Given the description of an element on the screen output the (x, y) to click on. 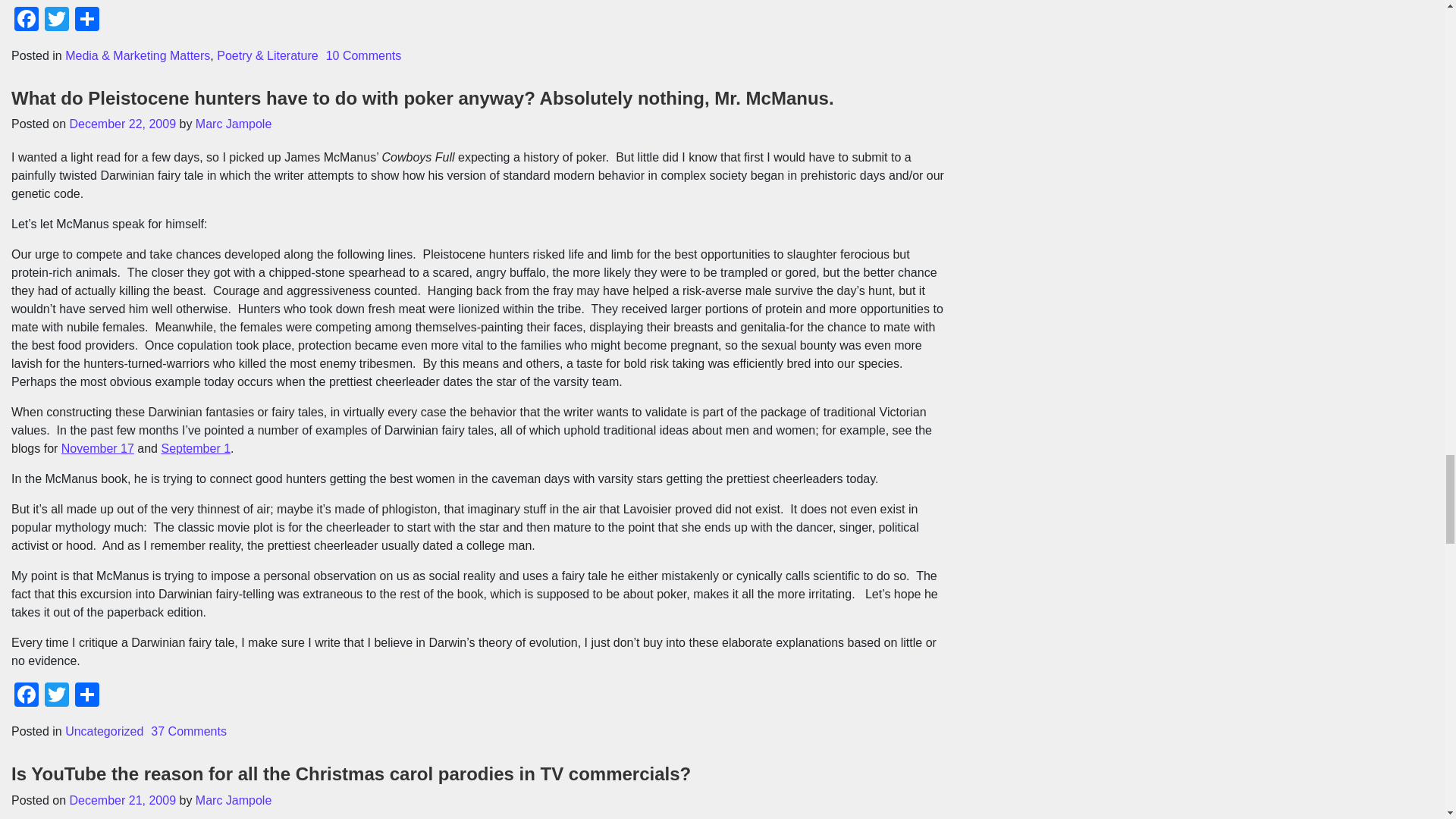
Twitter (56, 20)
Facebook (26, 20)
Facebook (26, 696)
Twitter (56, 696)
